Given the description of an element on the screen output the (x, y) to click on. 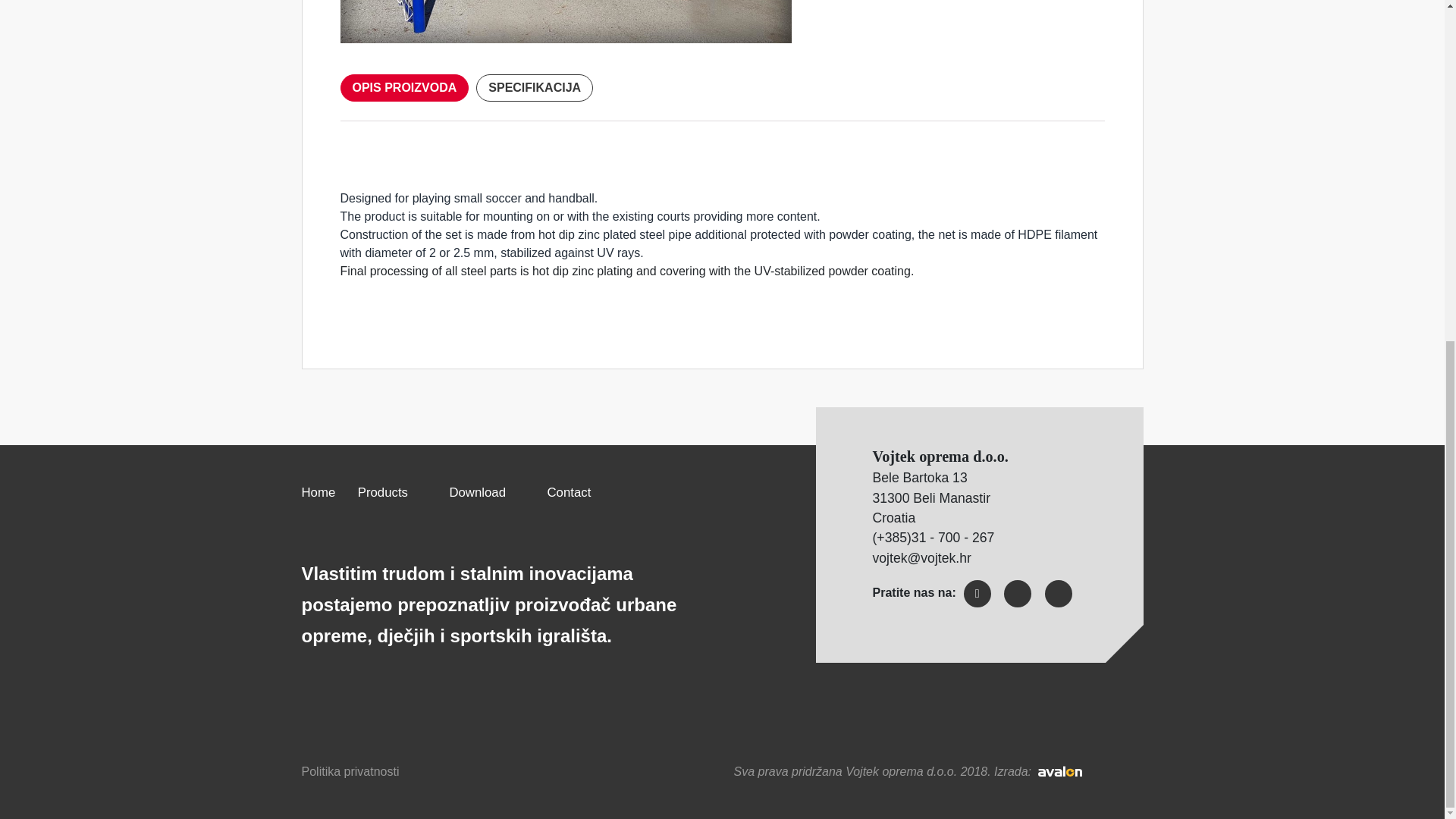
Home (318, 492)
Politika privatnosti (349, 771)
Products (382, 492)
Download (476, 492)
Contact (569, 492)
SPECIFIKACIJA (534, 87)
OPIS PROIZVODA (403, 87)
